Given the description of an element on the screen output the (x, y) to click on. 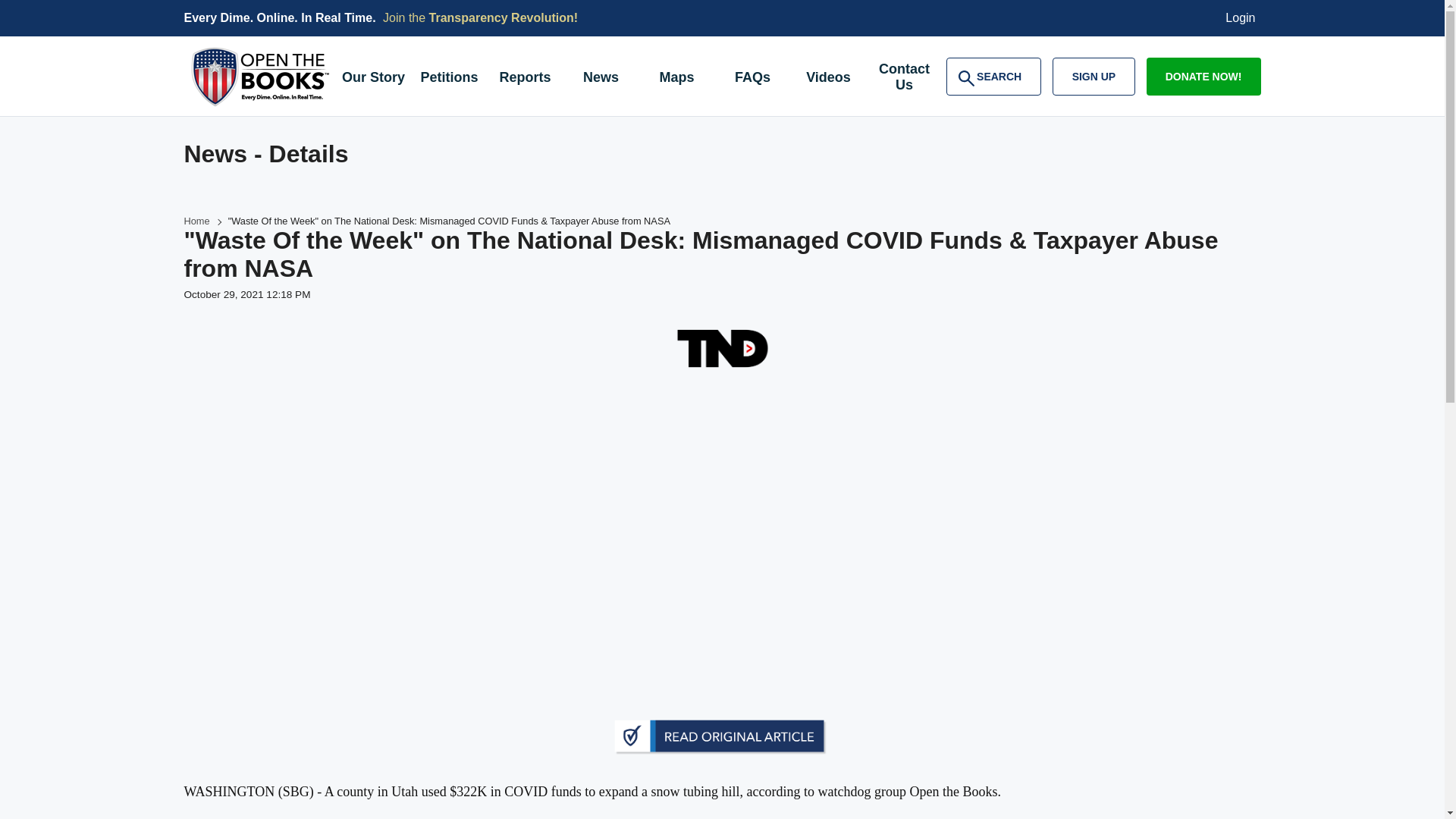
Login (1240, 18)
Maps (676, 78)
Petitions (993, 76)
Videos (448, 78)
DONATE NOW! (828, 78)
Transparency Revolution! (1203, 76)
Home (503, 17)
Contact Us (196, 220)
SIGN UP (904, 78)
Reports (1093, 76)
News (524, 78)
FAQs (600, 78)
Our Story (752, 78)
